Given the description of an element on the screen output the (x, y) to click on. 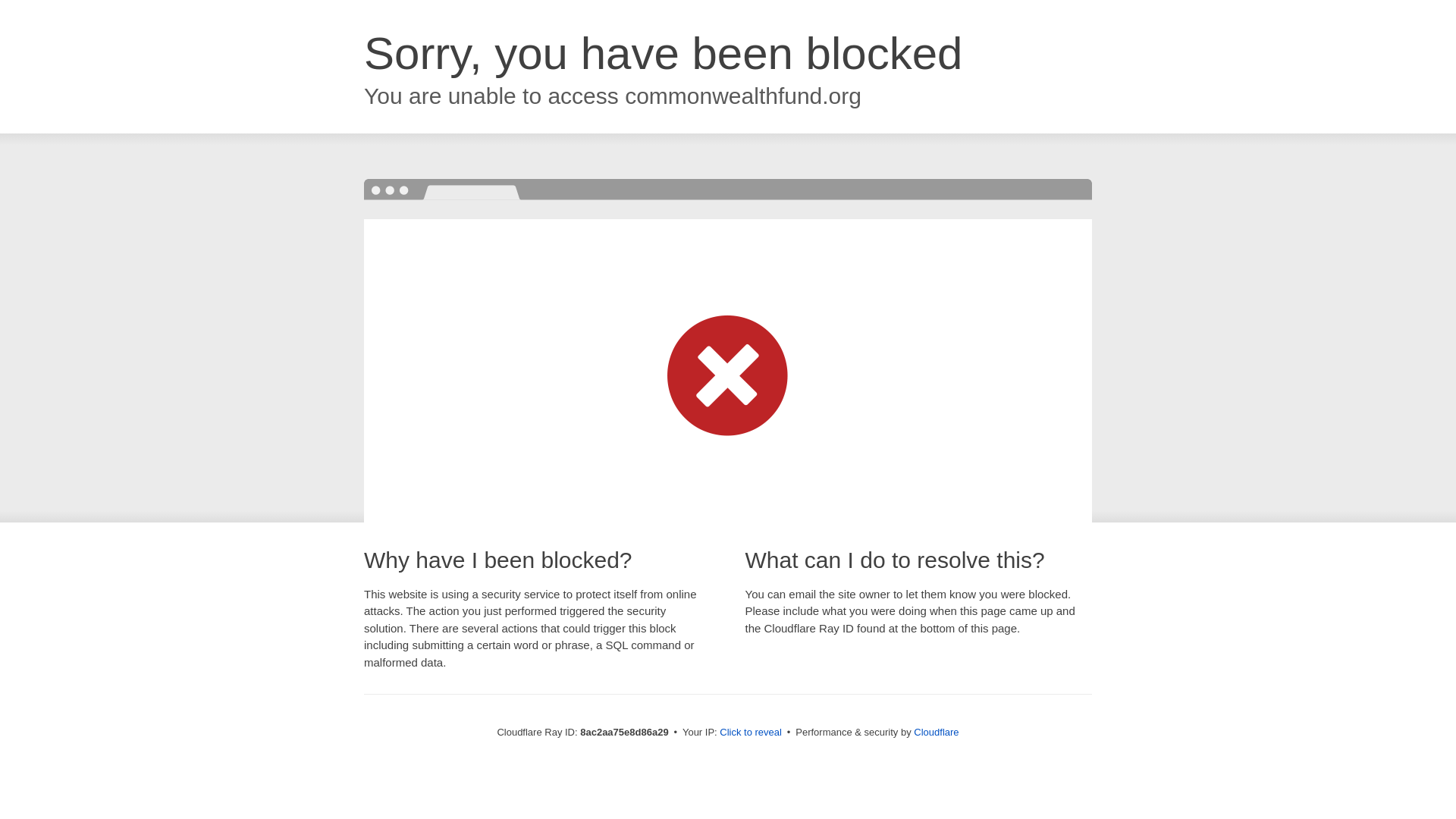
Click to reveal (750, 732)
Cloudflare (936, 731)
